Given the description of an element on the screen output the (x, y) to click on. 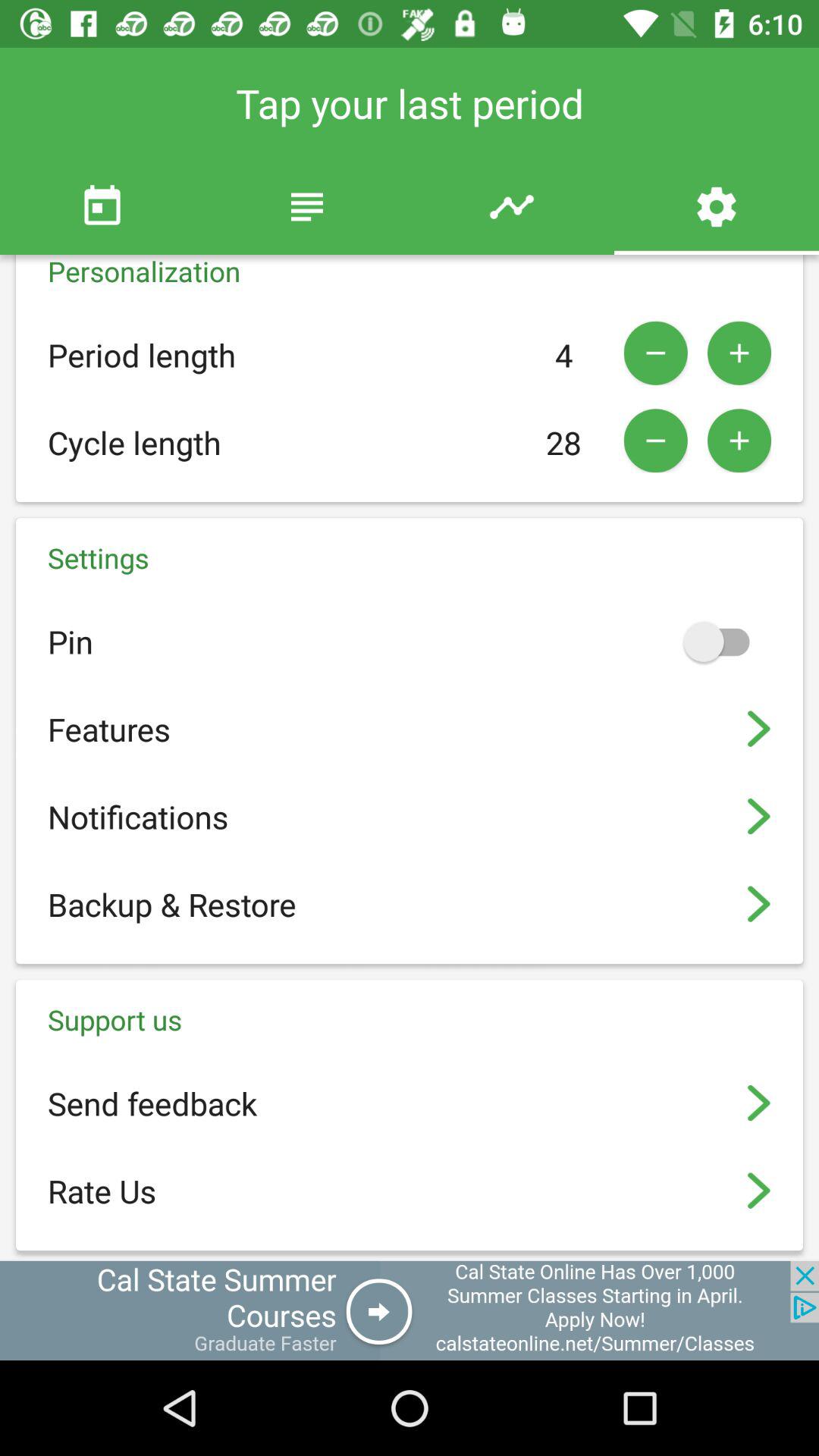
switch autoplay option (723, 641)
